Given the description of an element on the screen output the (x, y) to click on. 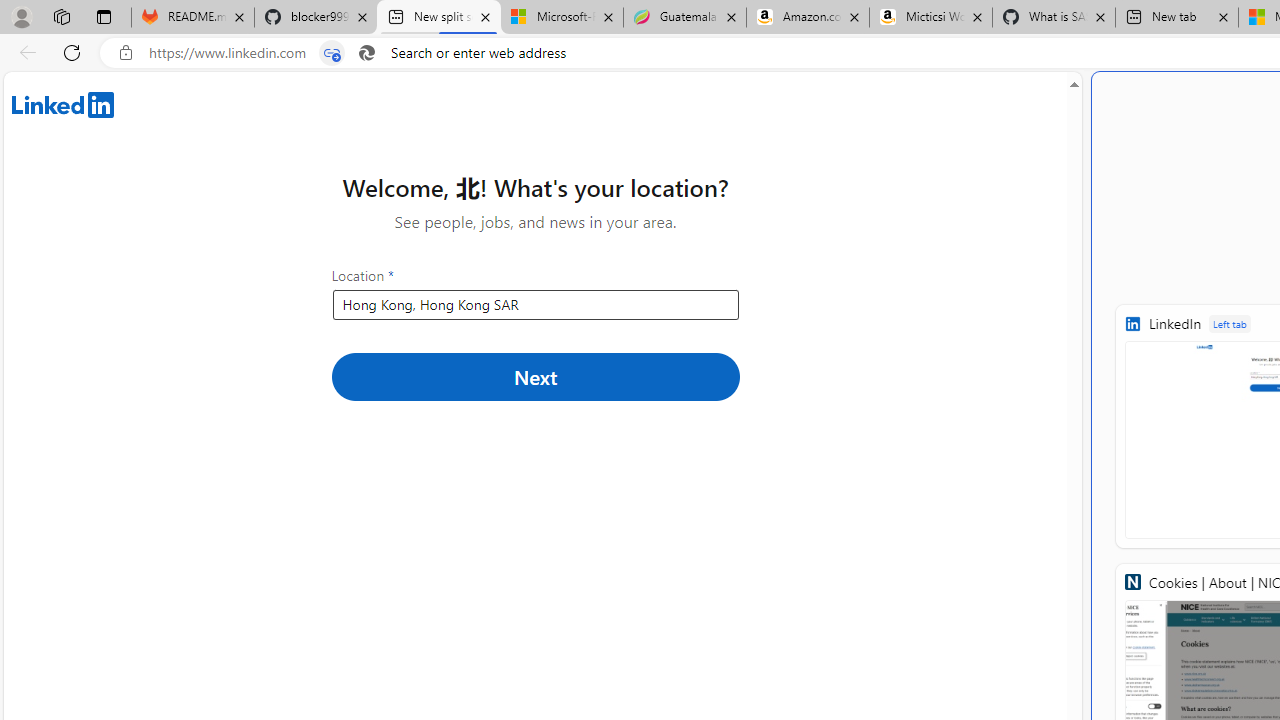
Tabs in split screen (331, 53)
Search icon (366, 53)
New split screen (438, 17)
